Given the description of an element on the screen output the (x, y) to click on. 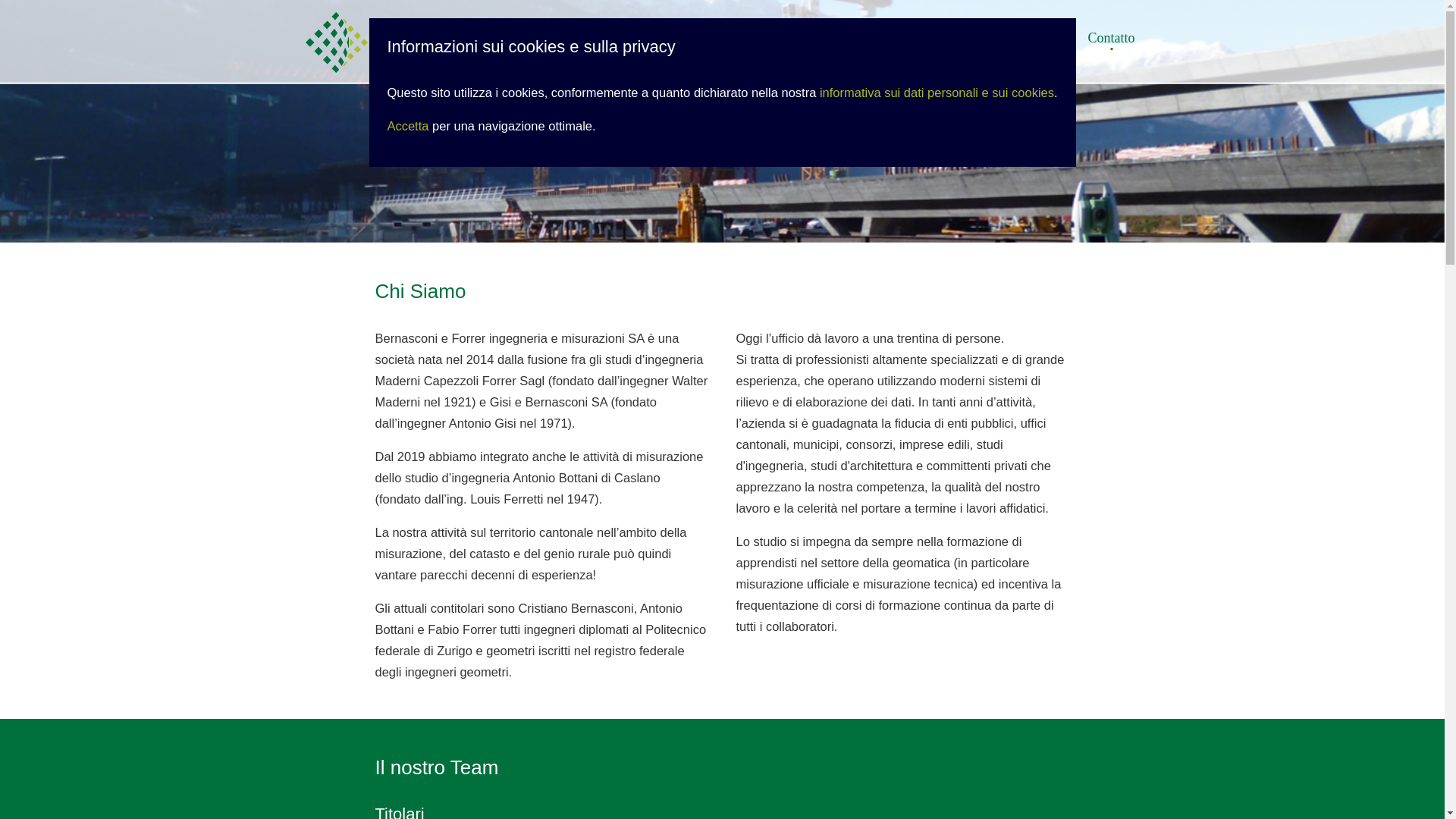
Home Element type: text (845, 37)
Contatto Element type: text (1110, 37)
Ordinazioni Element type: text (966, 37)
Chi Siamo Element type: text (1043, 37)
Accetta Element type: text (407, 125)
informativa sui dati personali e sui cookies Element type: text (936, 92)
